Given the description of an element on the screen output the (x, y) to click on. 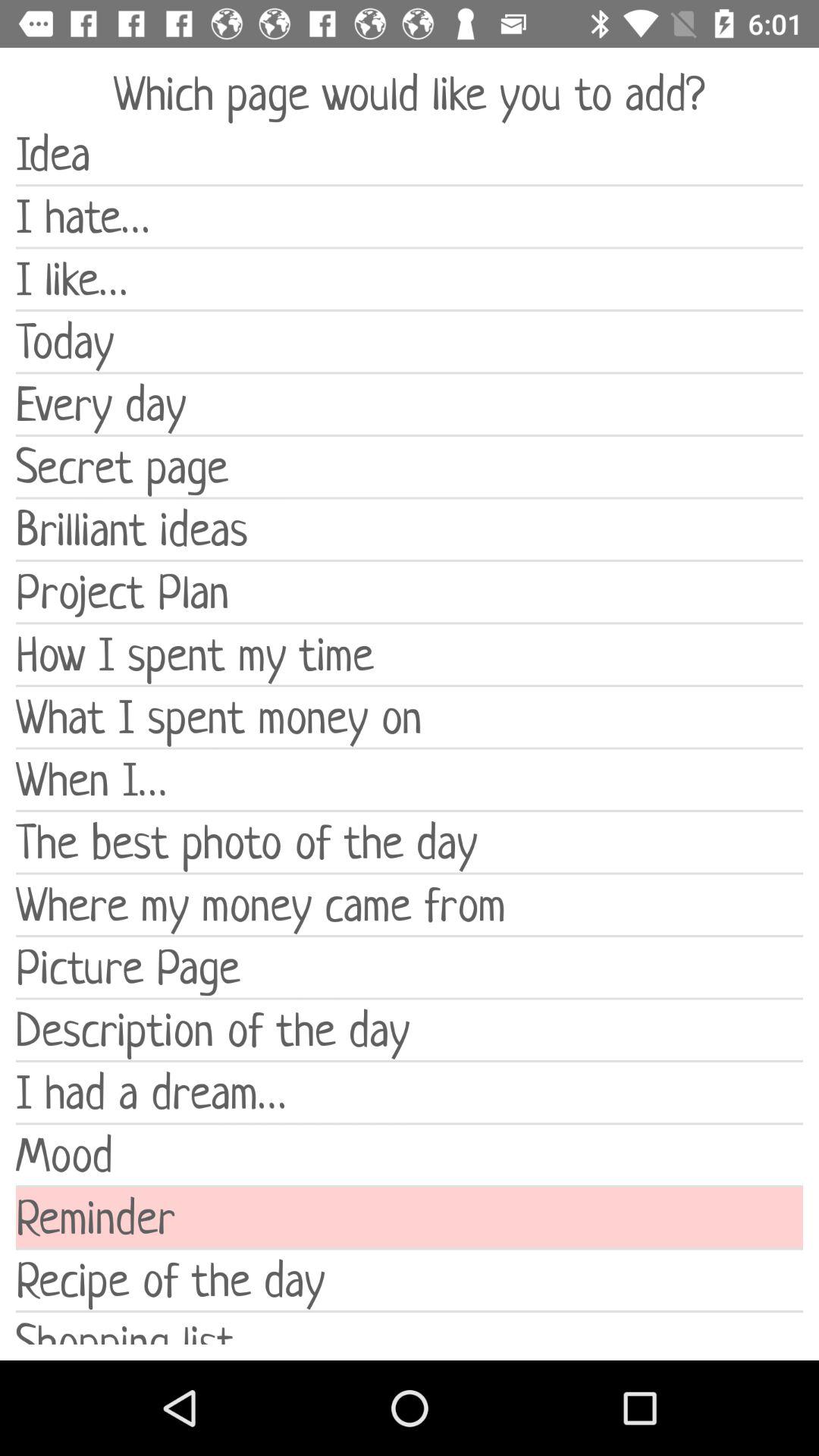
press the item below mood item (409, 1217)
